Given the description of an element on the screen output the (x, y) to click on. 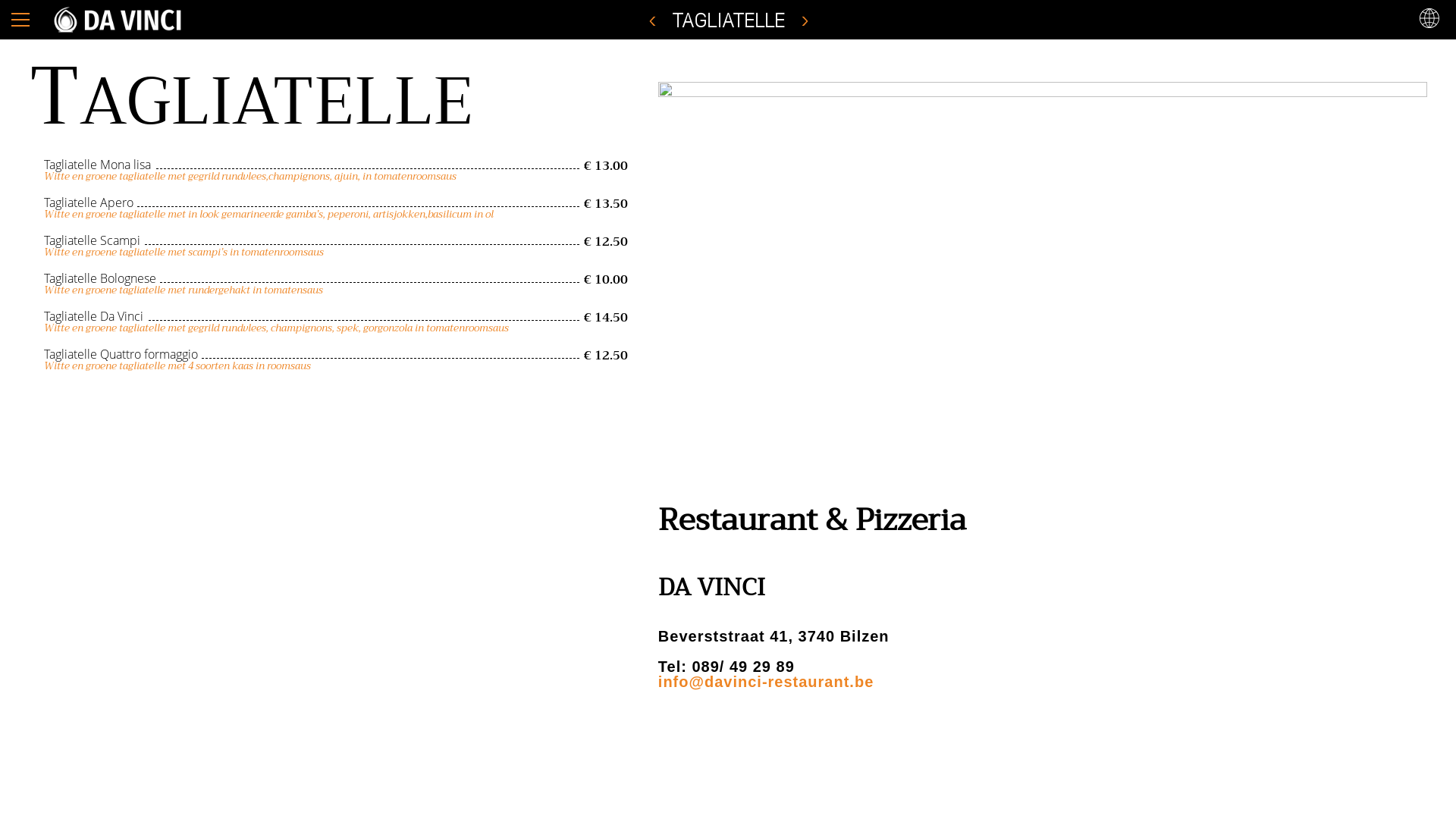
info@davinci-restaurant.be Element type: text (765, 681)
